Given the description of an element on the screen output the (x, y) to click on. 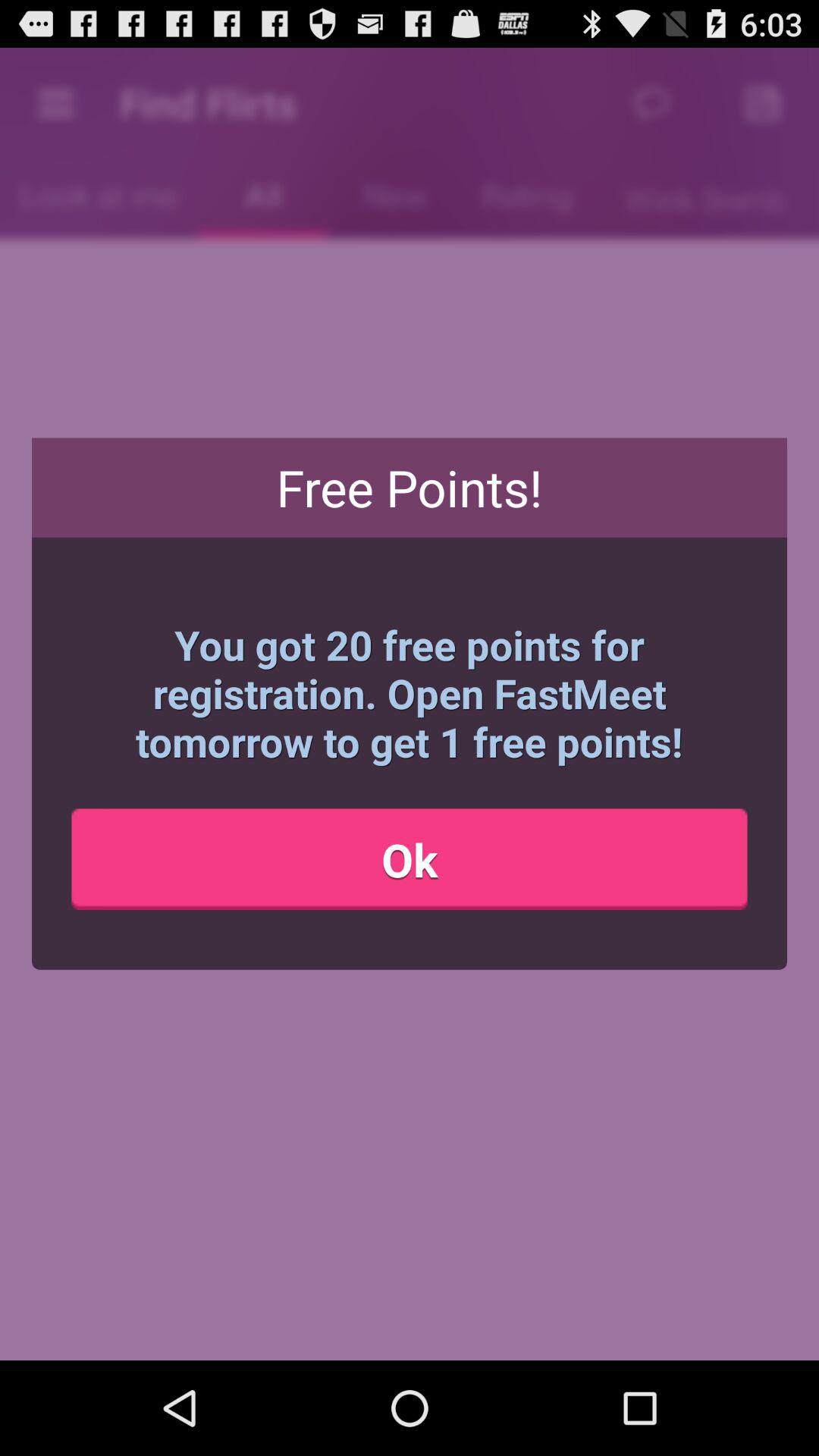
launch the ok (409, 859)
